Given the description of an element on the screen output the (x, y) to click on. 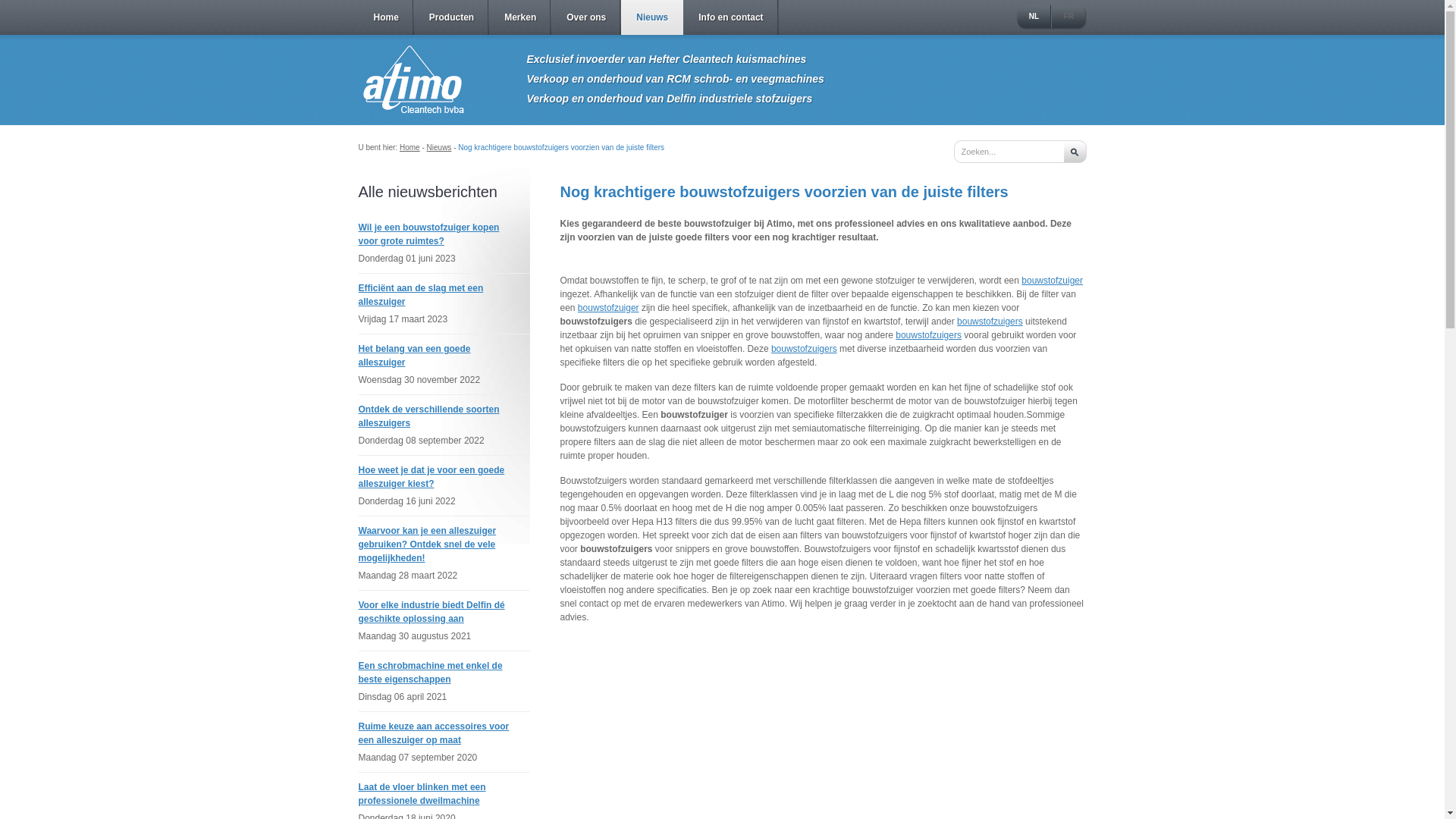
Ruime keuze aan accessoires voor een alleszuiger op maat Element type: text (432, 733)
Info en contact Element type: text (730, 17)
Nieuws Element type: text (652, 17)
Nieuws Element type: text (438, 147)
Merken Element type: text (520, 17)
Hefter Cleantech kuismachines Element type: text (727, 59)
bouwstofzuigers Element type: text (804, 348)
bouwstofzuiger Element type: text (608, 307)
bouwstofzuigers Element type: text (928, 334)
RCM schrob- en veegmachines Element type: text (745, 78)
FR Element type: text (1068, 17)
Het belang van een goede alleszuiger Element type: text (413, 355)
Hoe weet je dat je voor een goede alleszuiger kiest? Element type: text (430, 476)
Wil je een bouwstofzuiger kopen voor grote ruimtes? Element type: text (427, 234)
bouwstofzuigers Element type: text (989, 321)
Laat de vloer blinken met een professionele dweilmachine Element type: text (421, 793)
Over ons Element type: text (586, 17)
Home Element type: text (385, 17)
Producten Element type: text (451, 17)
Atimo Cleantech bvba Element type: text (413, 79)
bouwstofzuiger Element type: text (1051, 280)
Ontdek de verschillende soorten alleszuigers Element type: text (427, 416)
Home Element type: text (409, 147)
Zoeken Element type: text (1074, 151)
Een schrobmachine met enkel de beste eigenschappen Element type: text (429, 672)
Delfin industriele stofzuigers Element type: text (739, 98)
NL Element type: text (1033, 17)
